Given the description of an element on the screen output the (x, y) to click on. 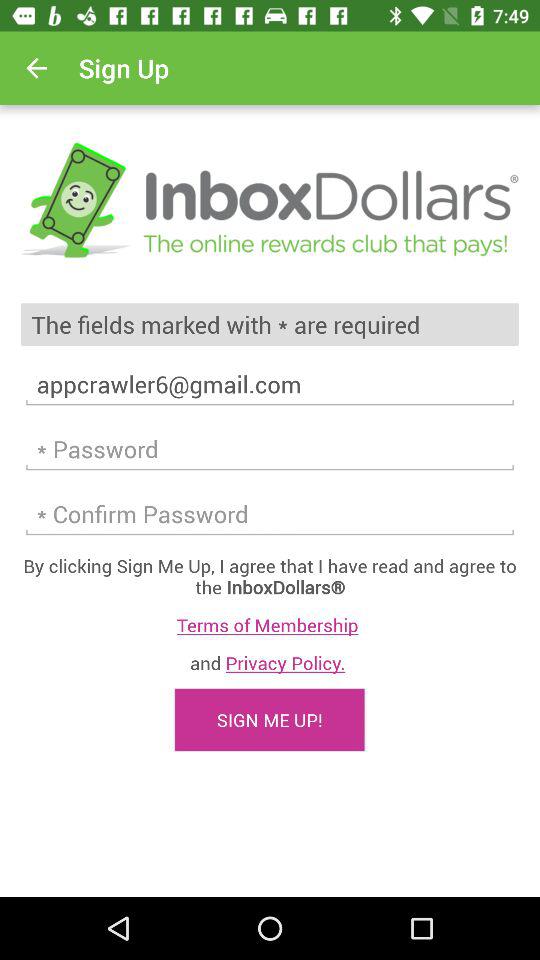
choose the item next to the sign up app (36, 68)
